Given the description of an element on the screen output the (x, y) to click on. 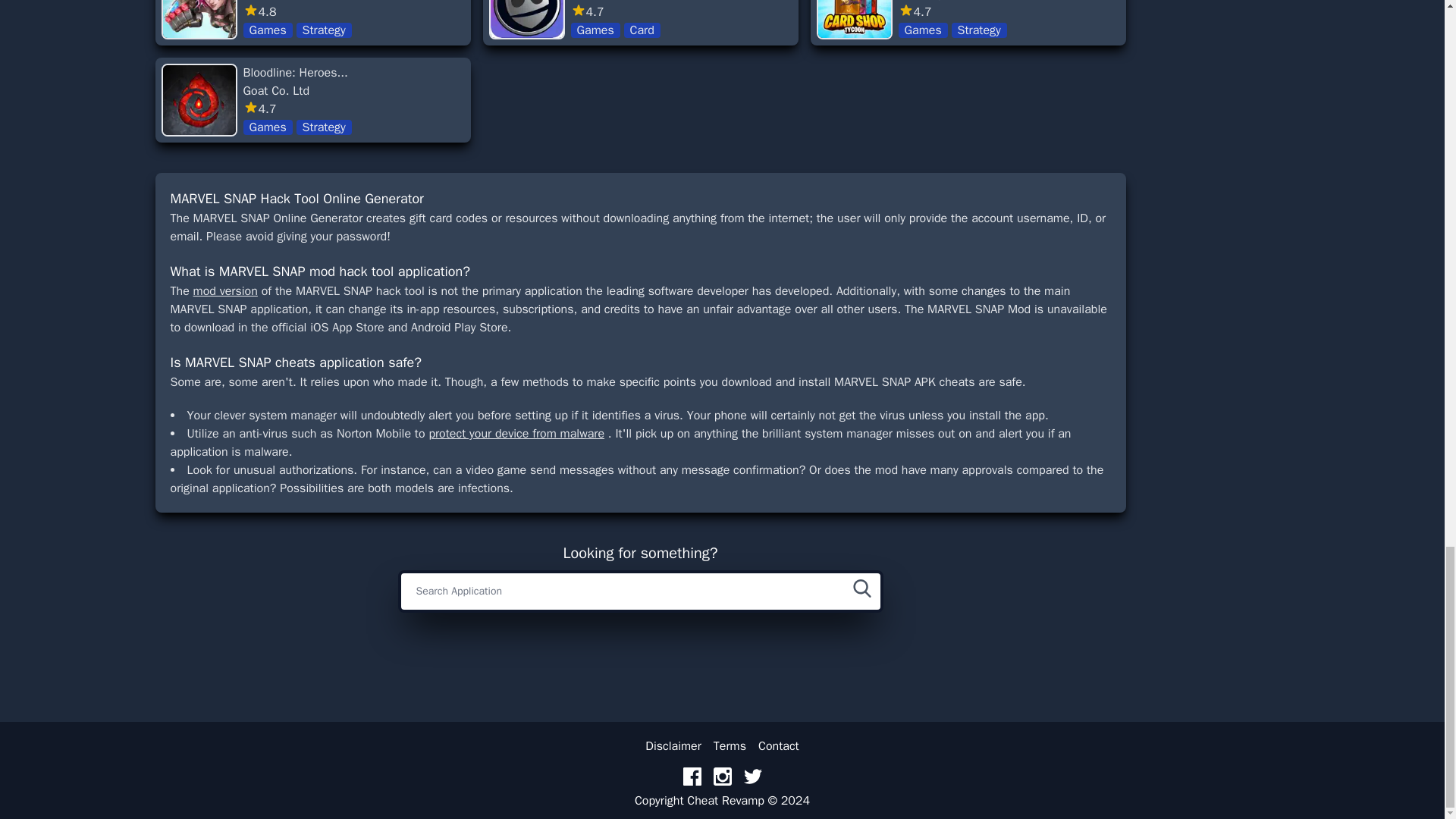
protect your device from malware (296, 99)
mod version (957, 18)
